Given the description of an element on the screen output the (x, y) to click on. 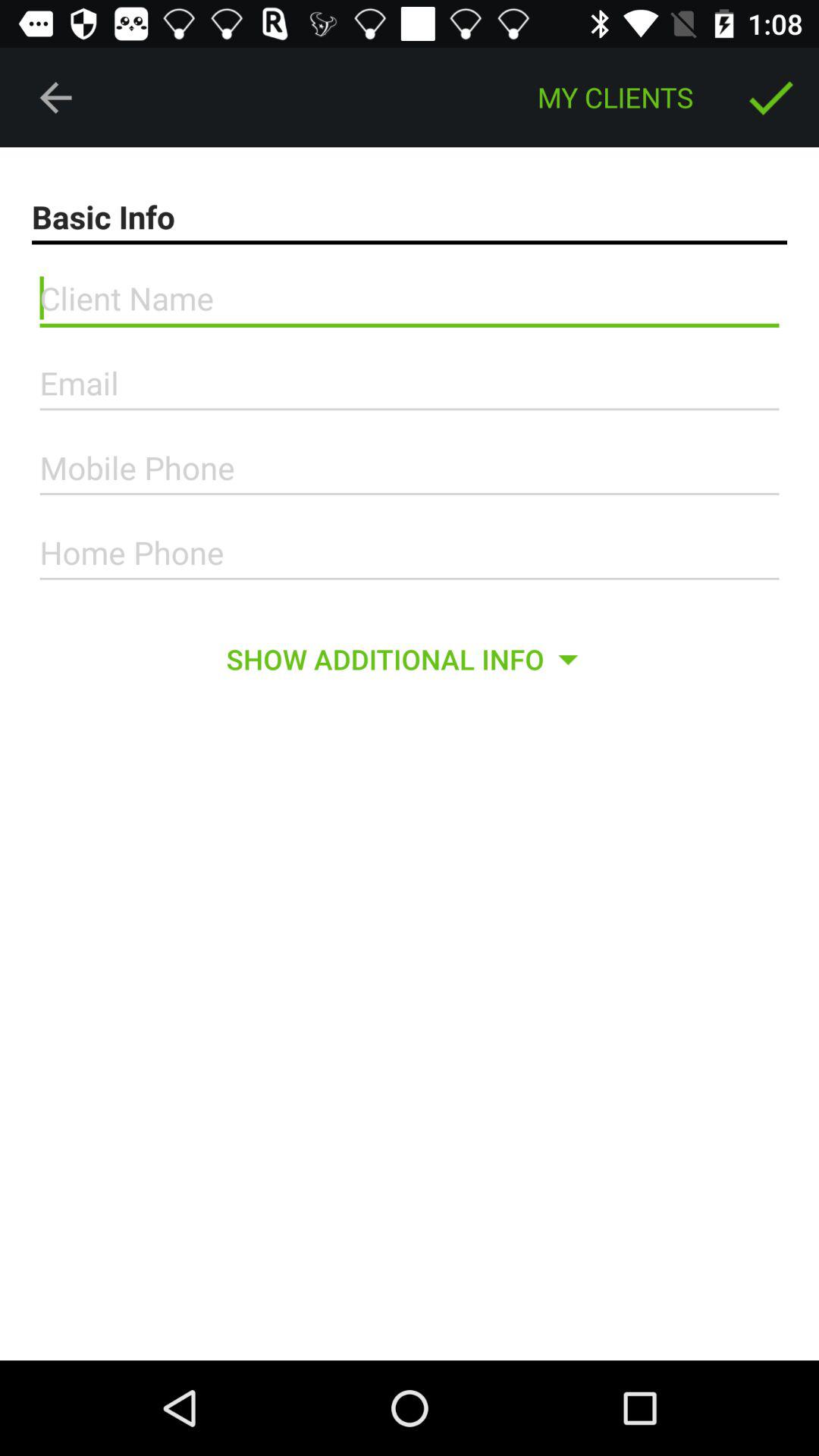
mobile phone entry (409, 467)
